Given the description of an element on the screen output the (x, y) to click on. 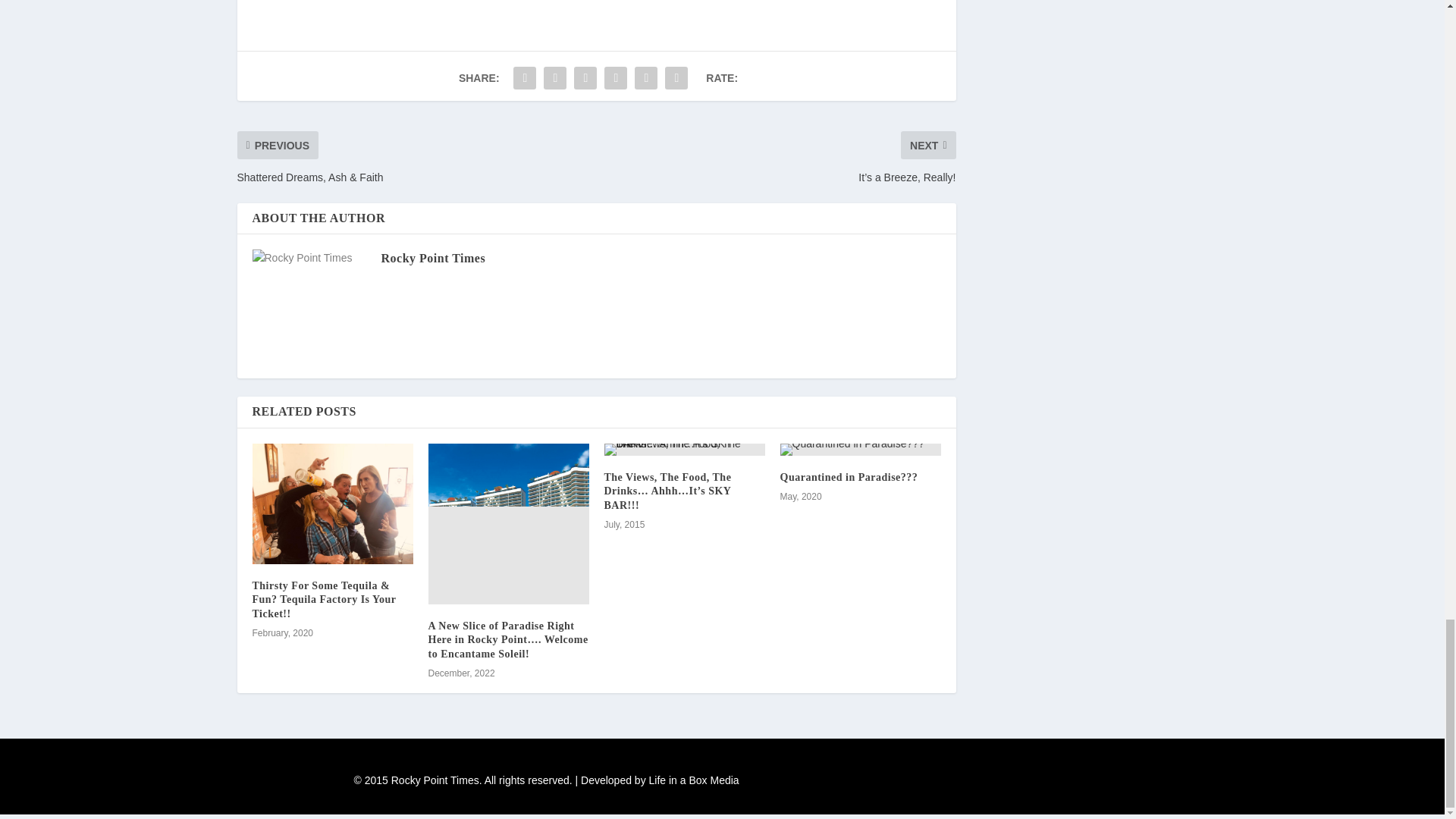
Share "Dreaming of My Beach Time in Rocky Point" via Print (676, 78)
Quarantined in Paradise??? (847, 477)
Share "Dreaming of My Beach Time in Rocky Point" via Twitter (555, 78)
Rocky Point Times (432, 257)
View all posts by Rocky Point Times (432, 257)
Share "Dreaming of My Beach Time in Rocky Point" via Tumblr (614, 78)
Quarantined in Paradise??? (859, 449)
